Given the description of an element on the screen output the (x, y) to click on. 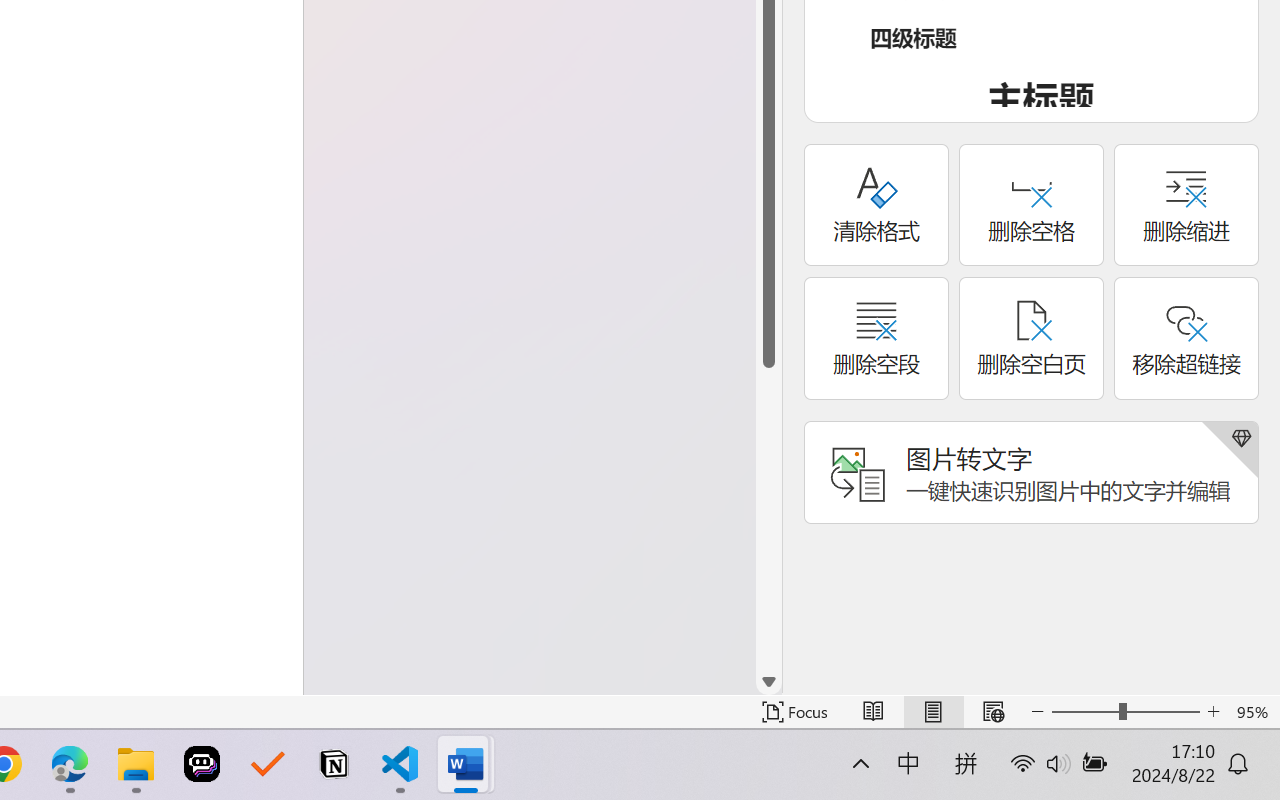
Line down (769, 681)
